Given the description of an element on the screen output the (x, y) to click on. 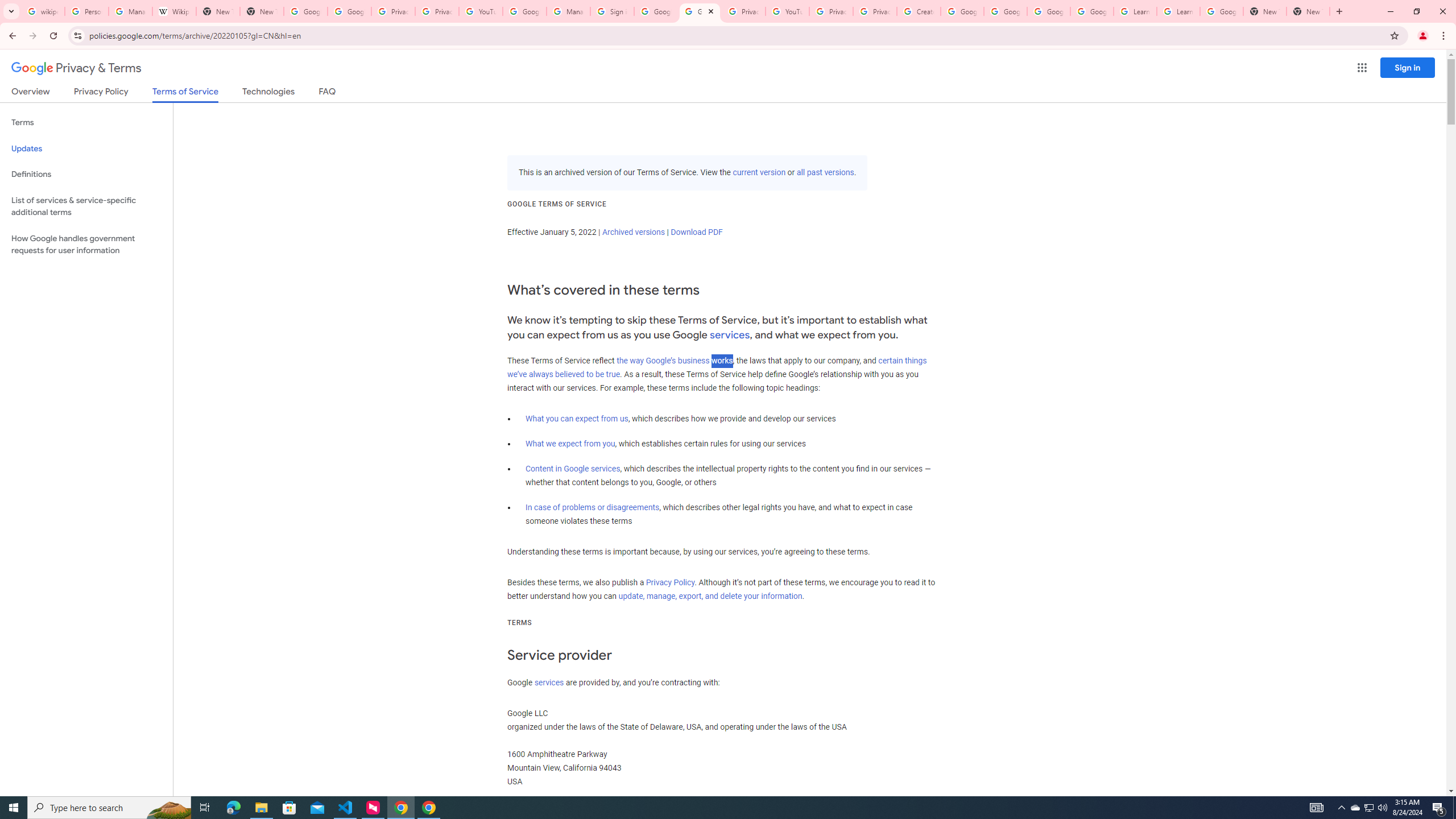
Personalization & Google Search results - Google Search Help (86, 11)
Wikipedia:Edit requests - Wikipedia (173, 11)
Google Account (1221, 11)
update, manage, export, and delete your information (710, 596)
New Tab (1264, 11)
YouTube (481, 11)
